Given the description of an element on the screen output the (x, y) to click on. 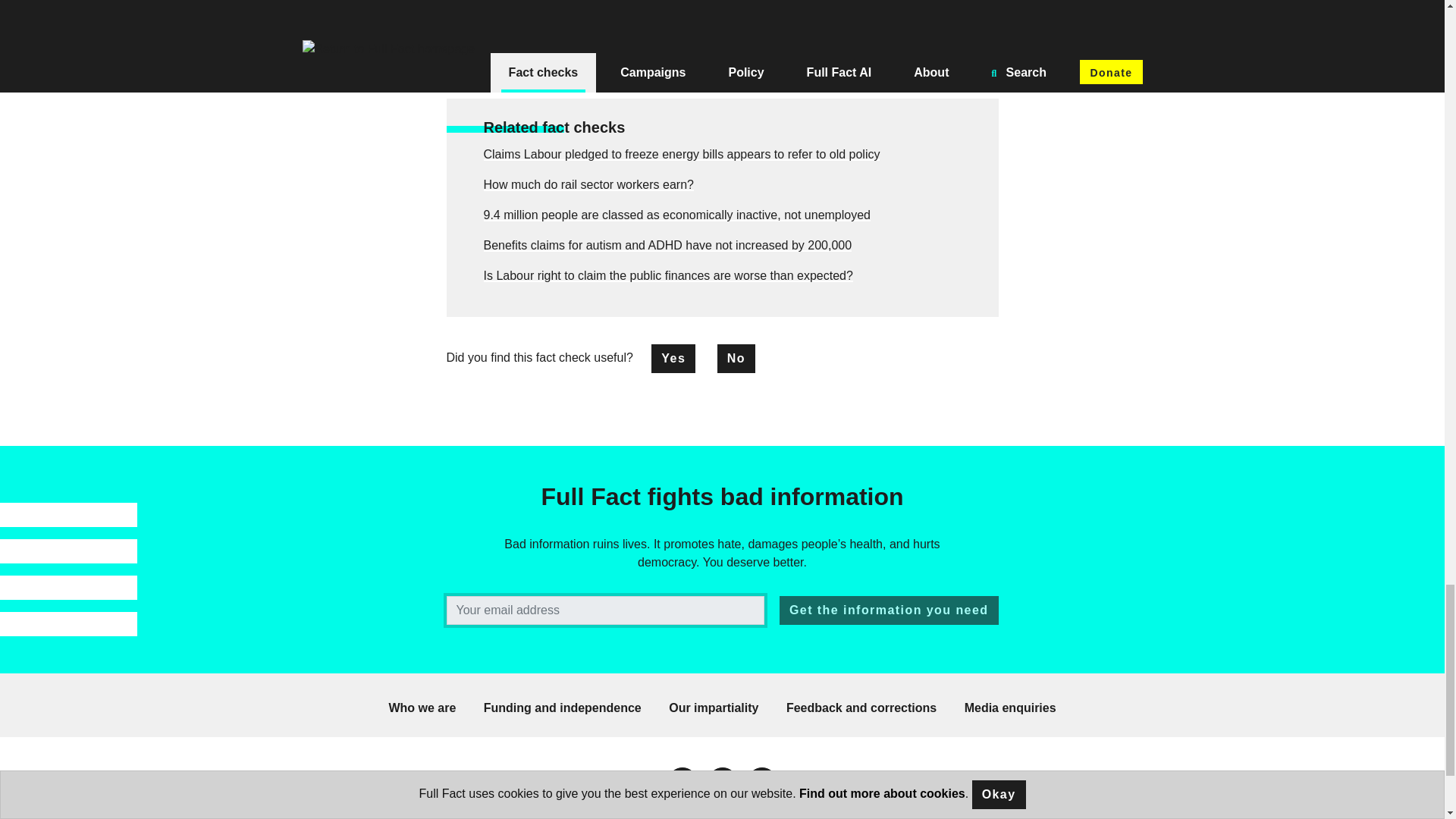
Link opens in a new window (681, 782)
Link opens in a new window (721, 782)
Link opens in a new window (761, 782)
How much do rail sector workers earn? (588, 184)
